Given the description of an element on the screen output the (x, y) to click on. 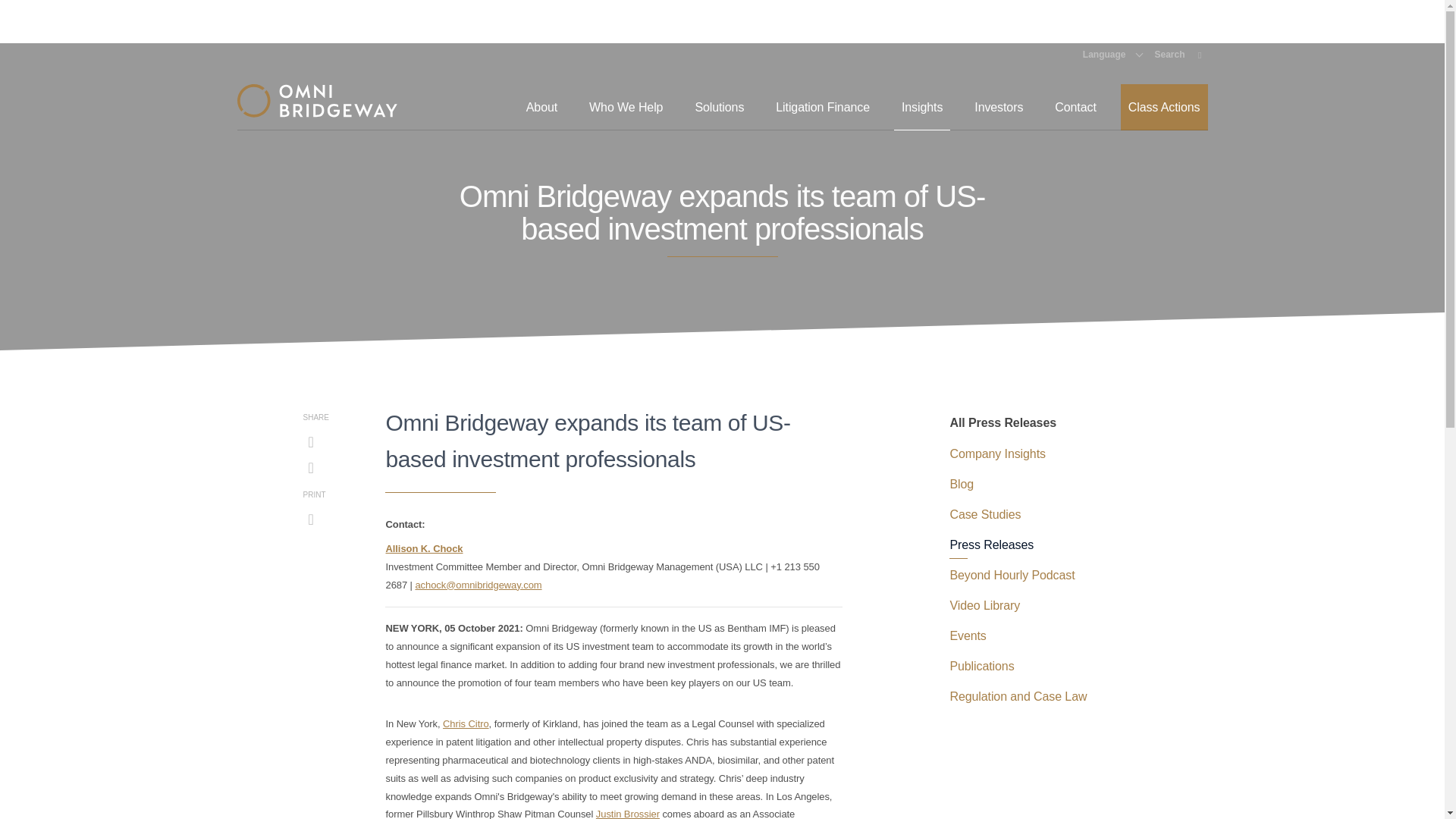
About (541, 107)
Litigation Finance (822, 107)
Language (1112, 54)
Solutions (719, 107)
Insights (921, 107)
Who We Help (624, 107)
Search (1177, 54)
